Given the description of an element on the screen output the (x, y) to click on. 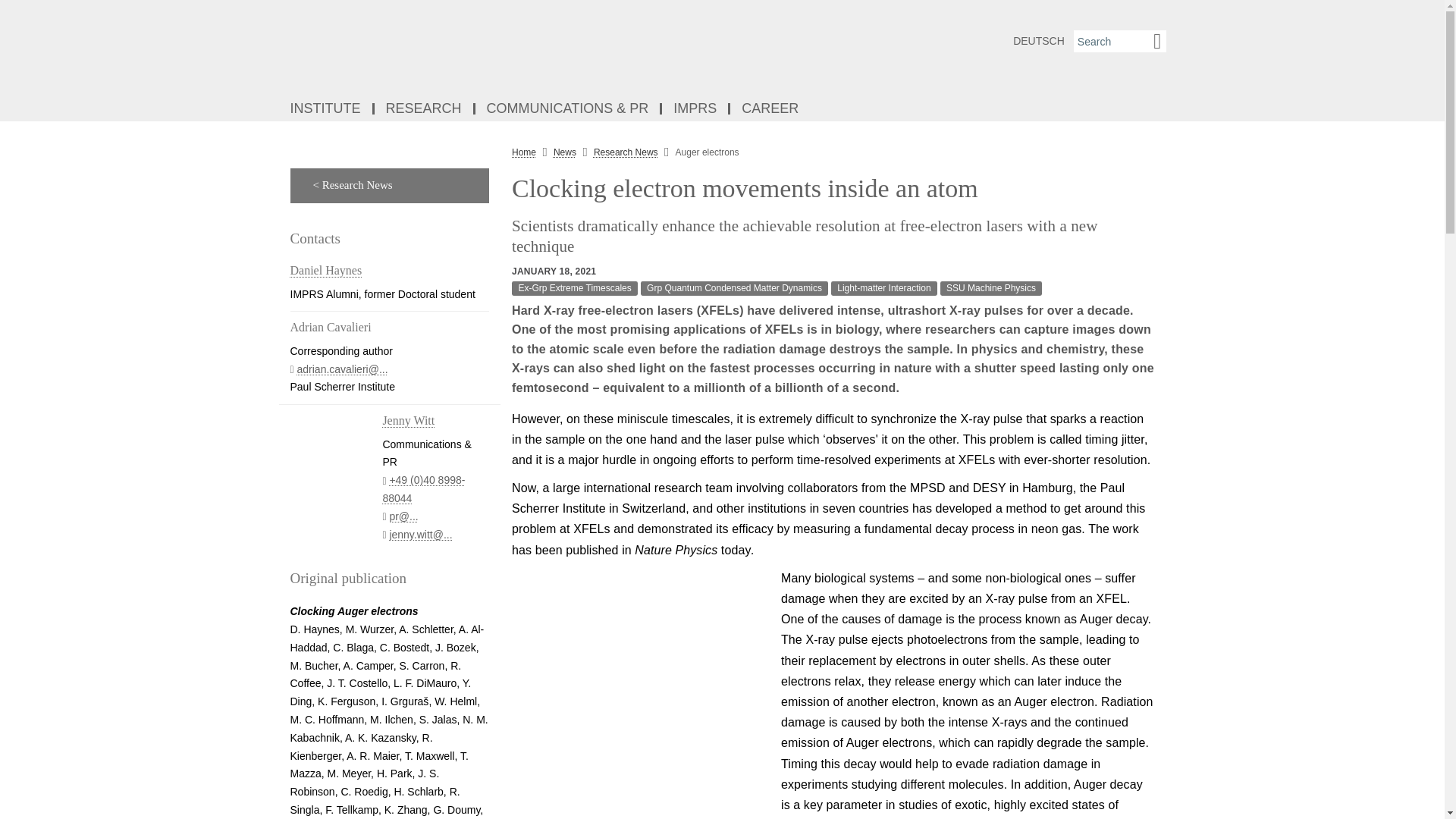
RESEARCH (425, 108)
INSTITUTE (326, 108)
More information about Daniel Haynes (325, 269)
More information about Jenny Witt (407, 420)
opens zoom view (640, 693)
DEUTSCH (1038, 41)
Print (1177, 184)
